Given the description of an element on the screen output the (x, y) to click on. 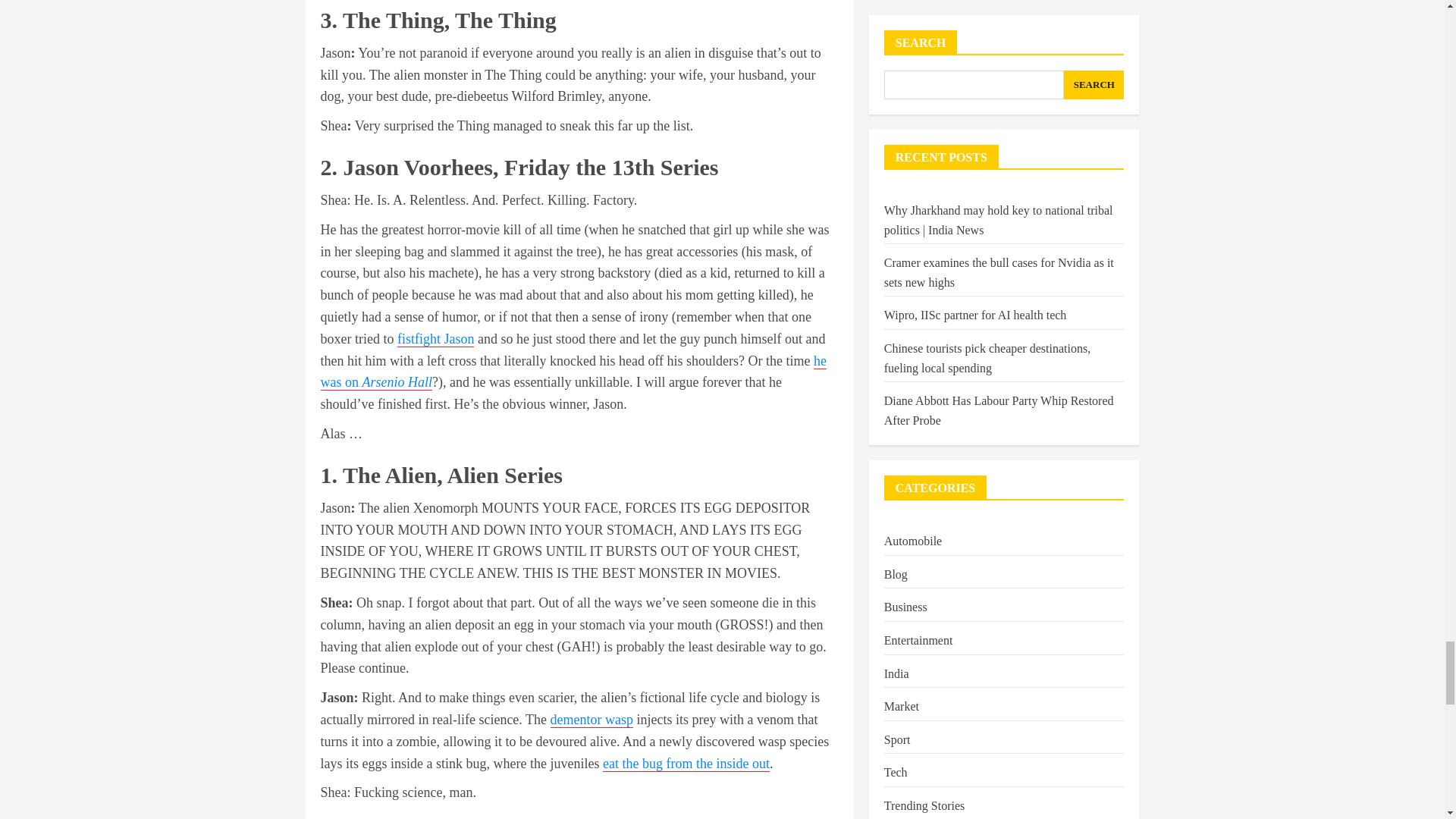
dementor wasp (591, 719)
eat the bug from the inside out (686, 763)
fistfight Jason (435, 339)
he was on Arsenio Hall (573, 371)
